Given the description of an element on the screen output the (x, y) to click on. 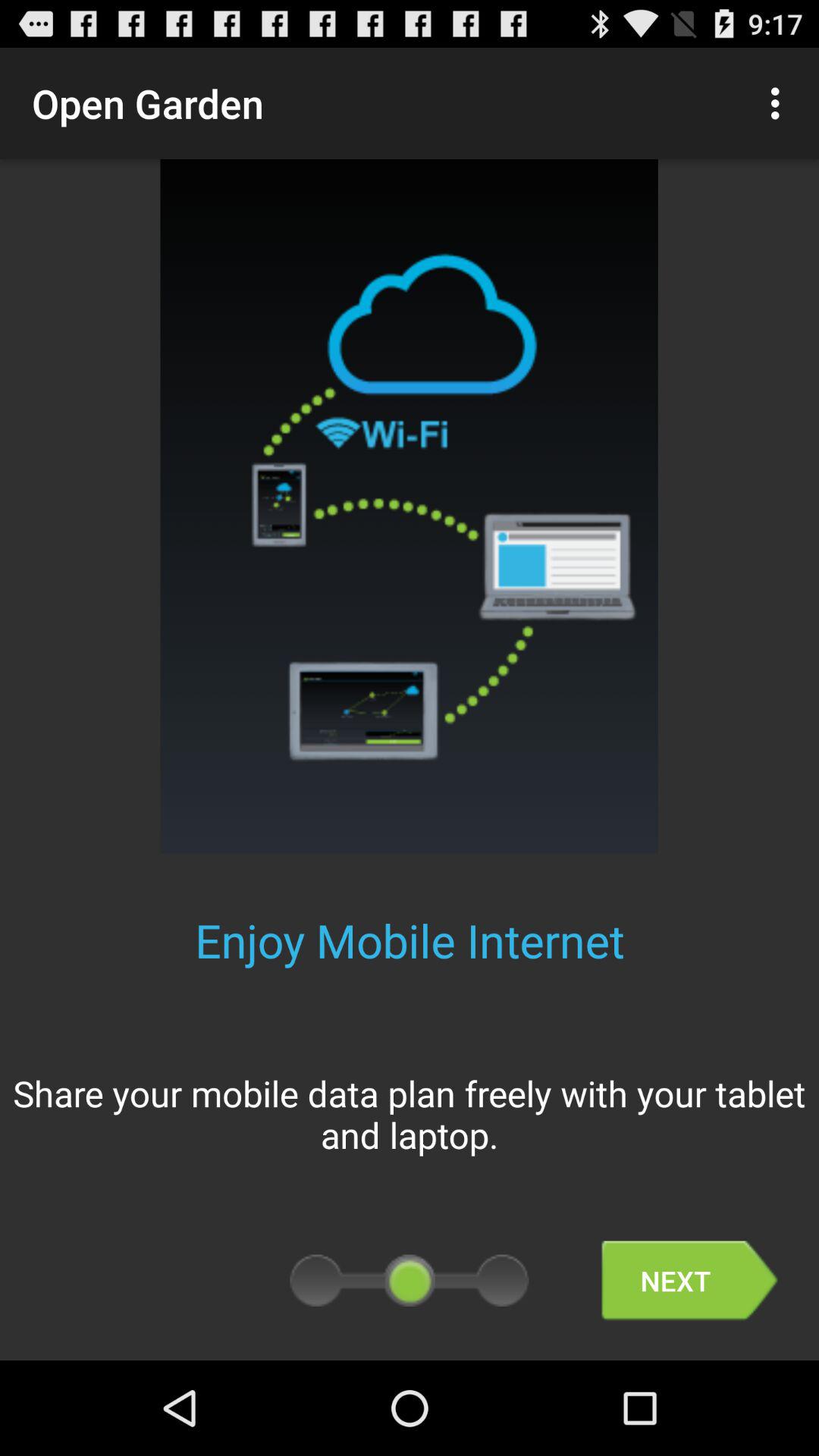
launch the item at the bottom right corner (689, 1280)
